Given the description of an element on the screen output the (x, y) to click on. 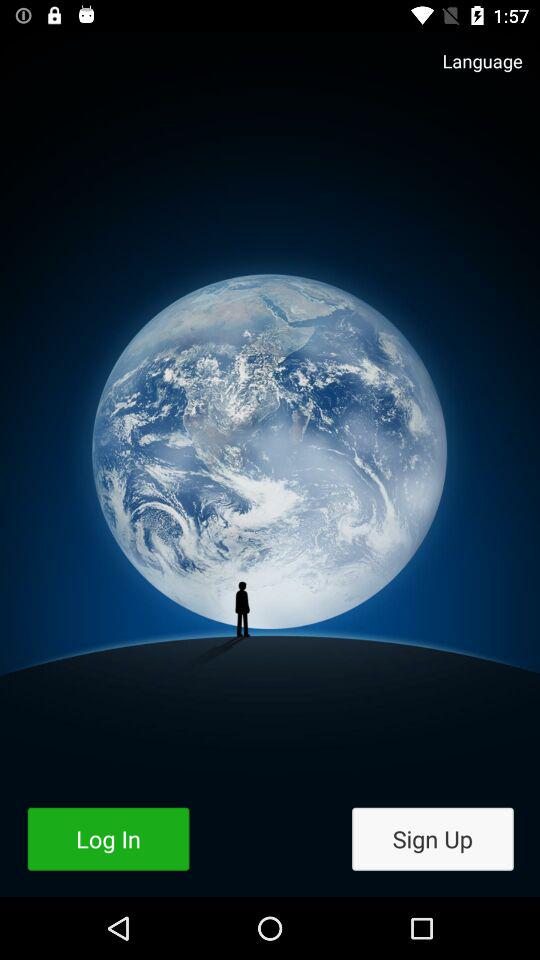
click item next to the log in button (432, 838)
